Given the description of an element on the screen output the (x, y) to click on. 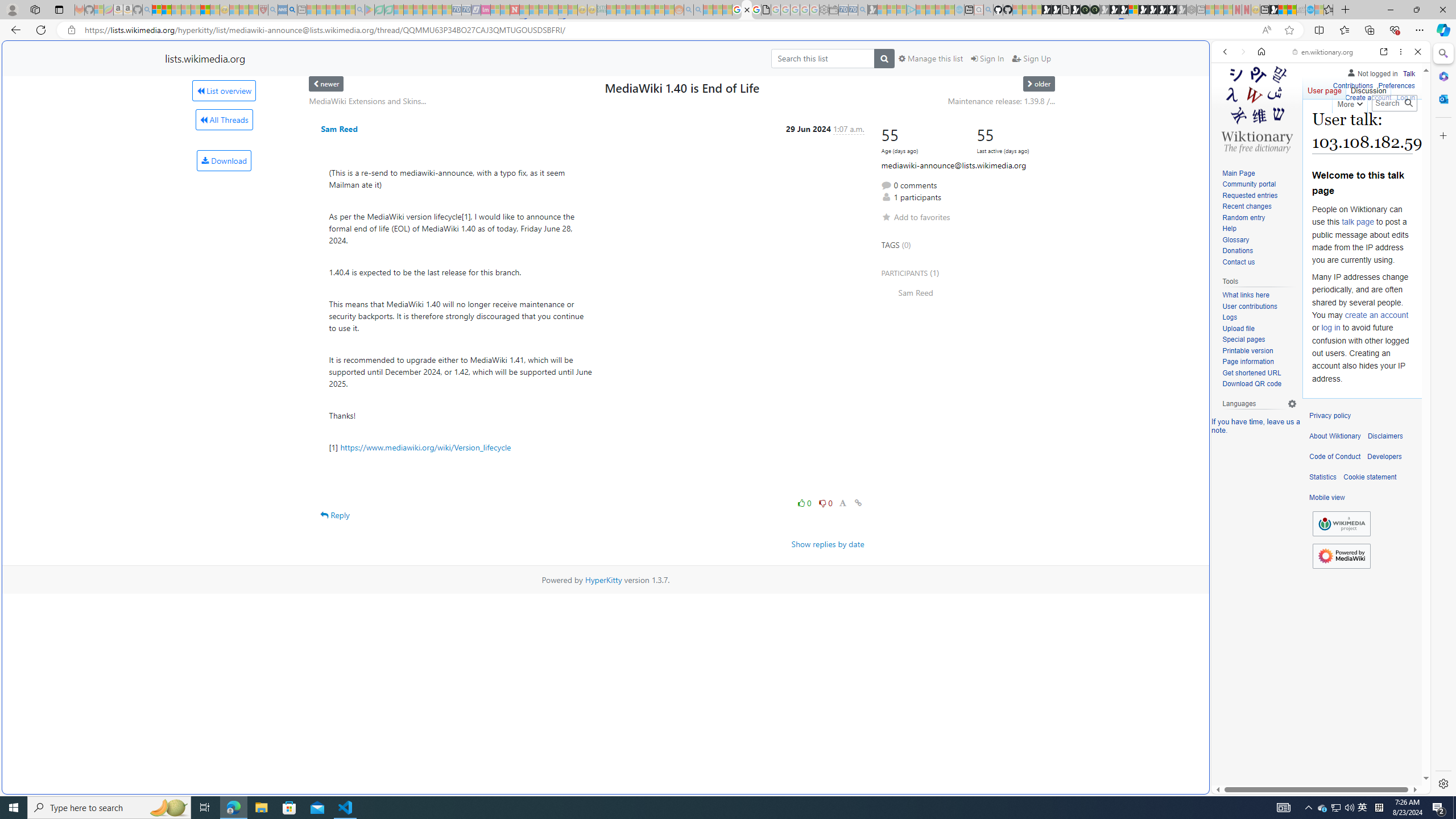
Discussion (1367, 87)
Talk (1408, 71)
Earth has six continents not seven, radical new study claims (1291, 9)
Search Wiktionary (1393, 103)
Sam Reed (339, 128)
Class: b_serphb (1404, 130)
Robert H. Shmerling, MD - Harvard Health - Sleeping (263, 9)
